Given the description of an element on the screen output the (x, y) to click on. 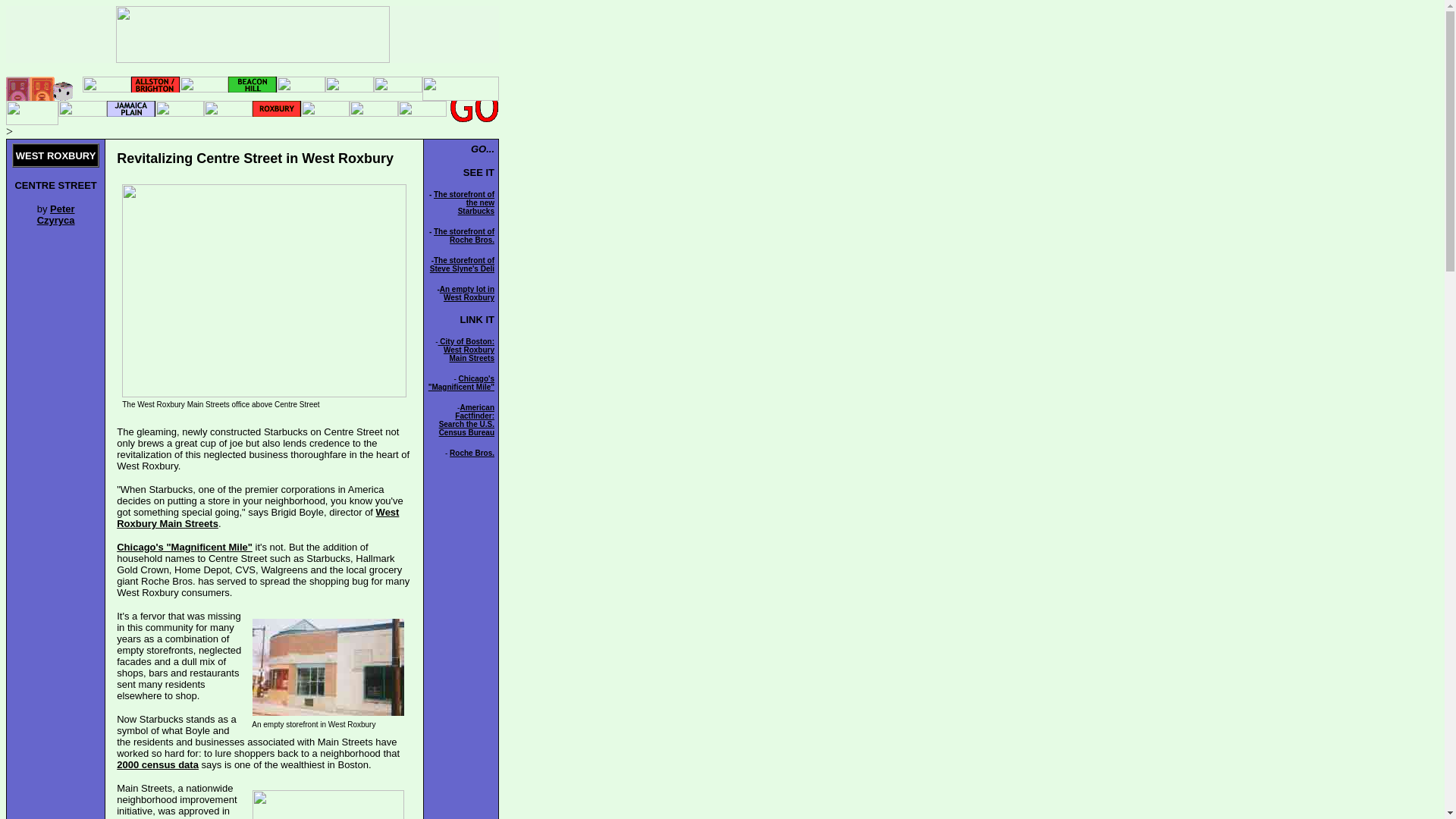
2000 census data (157, 764)
An empty lot in West Roxbury (467, 293)
City of Boston: West Roxbury Main Streets (466, 348)
Chicago's "Magnificent Mile" (461, 382)
West Roxbury Main Streets (257, 517)
The storefront of the new Starbucks (56, 214)
Roche Bros. (464, 202)
The storefront of Roche Bros. (472, 452)
Chicago's "Magnificent Mile" (464, 235)
The storefront of Steve Slyne's Deli (183, 546)
American Factfinder: Search the U.S. Census Bureau (462, 264)
